Given the description of an element on the screen output the (x, y) to click on. 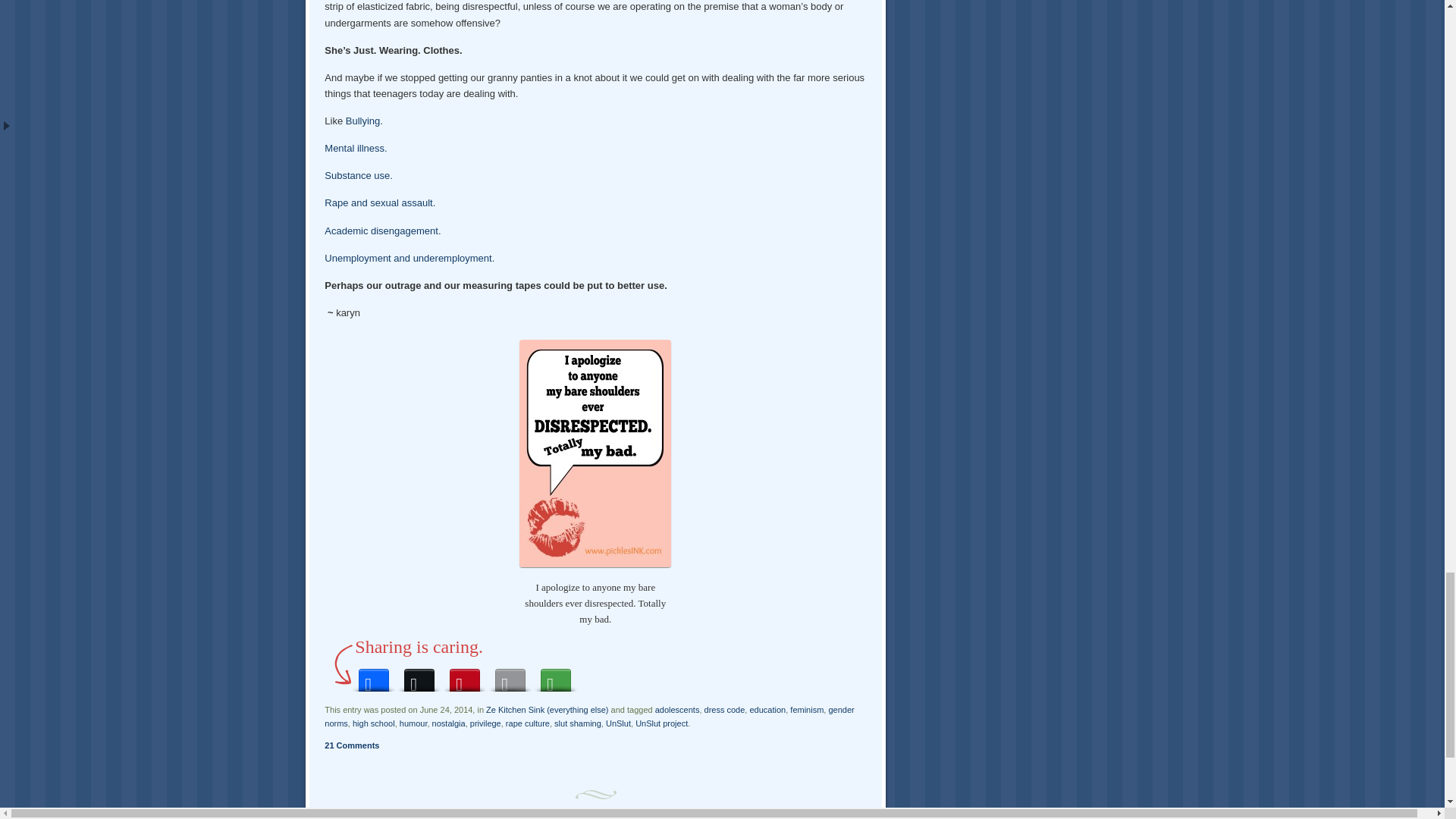
Substance use. (358, 174)
dress code (724, 709)
Academic disengagement. (382, 230)
Mental illness. (355, 147)
feminism (807, 709)
Facebook (373, 676)
humour (413, 723)
privilege (485, 723)
Pinterest (464, 676)
Unemployment and underemployment. (409, 257)
